Given the description of an element on the screen output the (x, y) to click on. 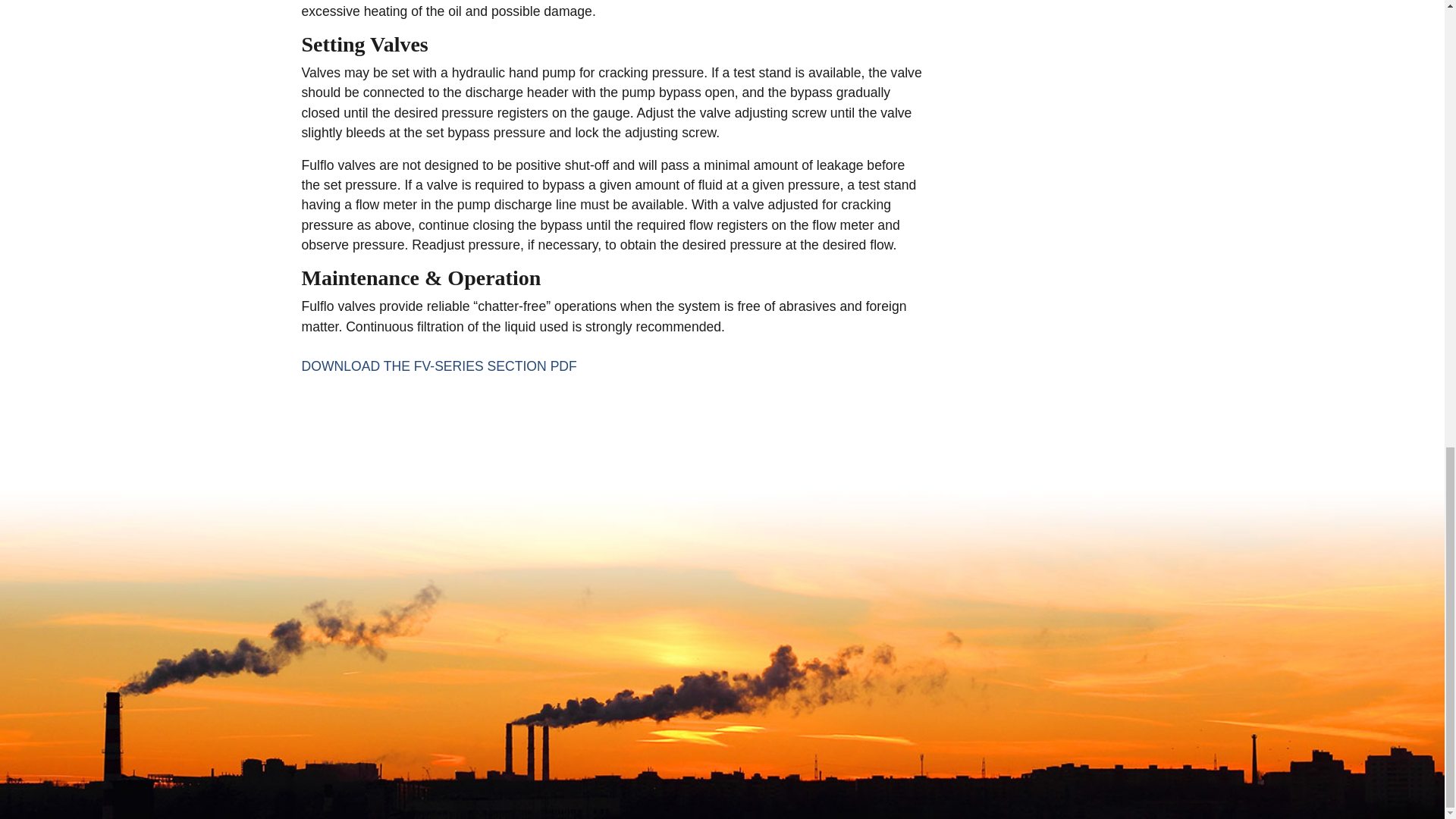
DOWNLOAD THE FV-SERIES SECTION PDF (438, 365)
